Given the description of an element on the screen output the (x, y) to click on. 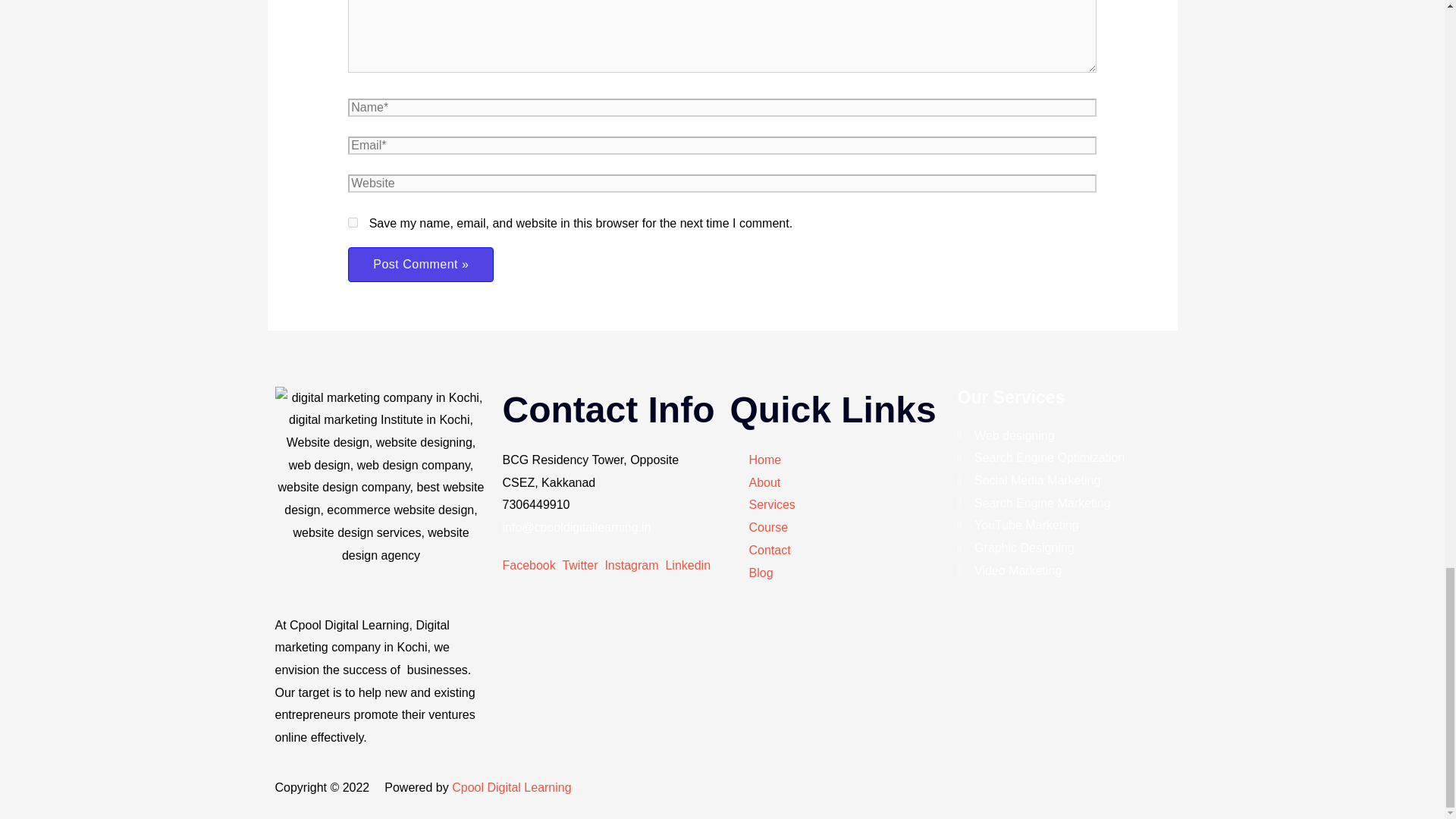
Facebook (532, 564)
Home (754, 459)
Instagram (634, 564)
Linkedin (689, 564)
yes (352, 222)
Twitter (583, 564)
About (754, 482)
